Given the description of an element on the screen output the (x, y) to click on. 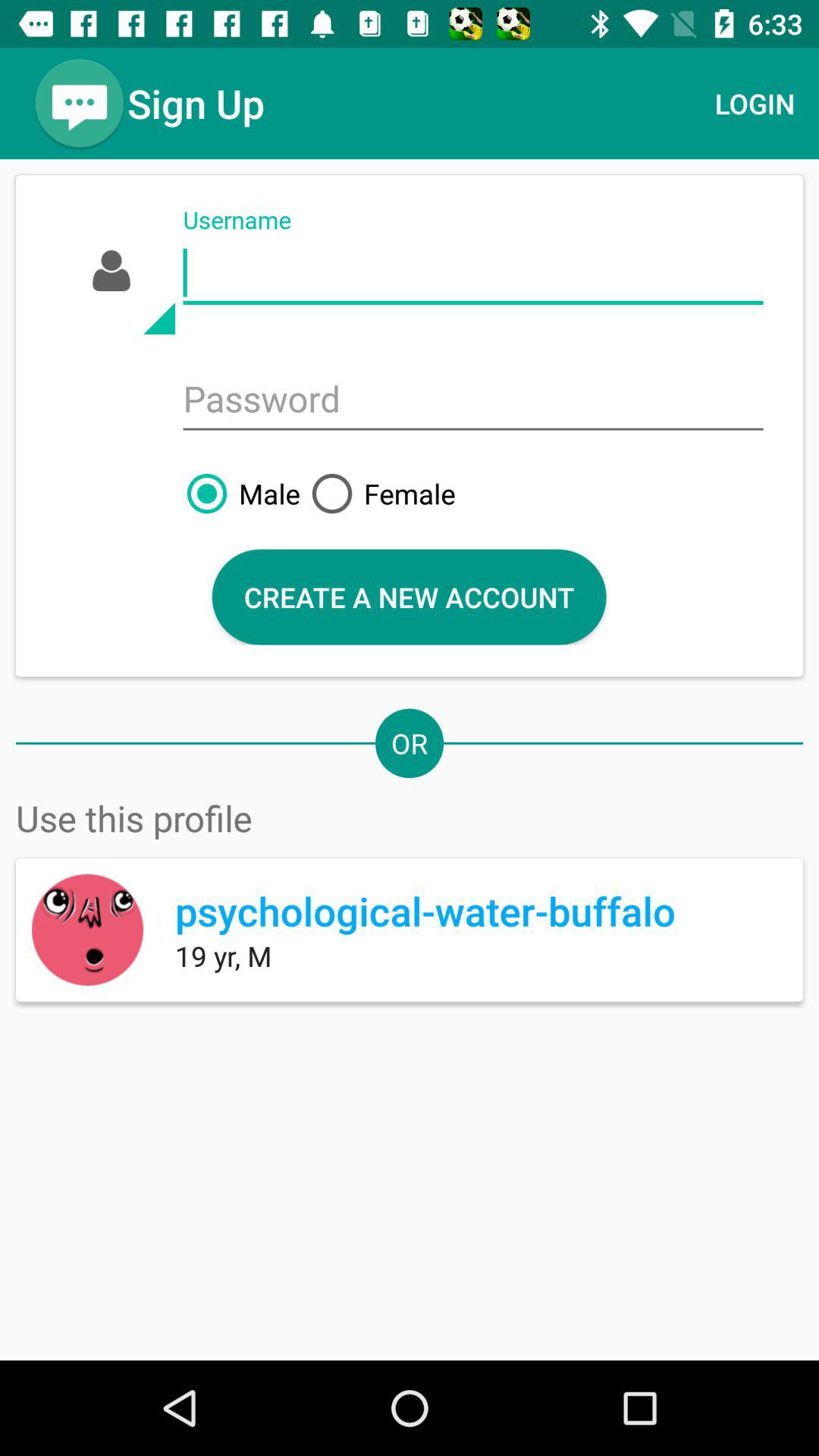
select password field (473, 400)
